Given the description of an element on the screen output the (x, y) to click on. 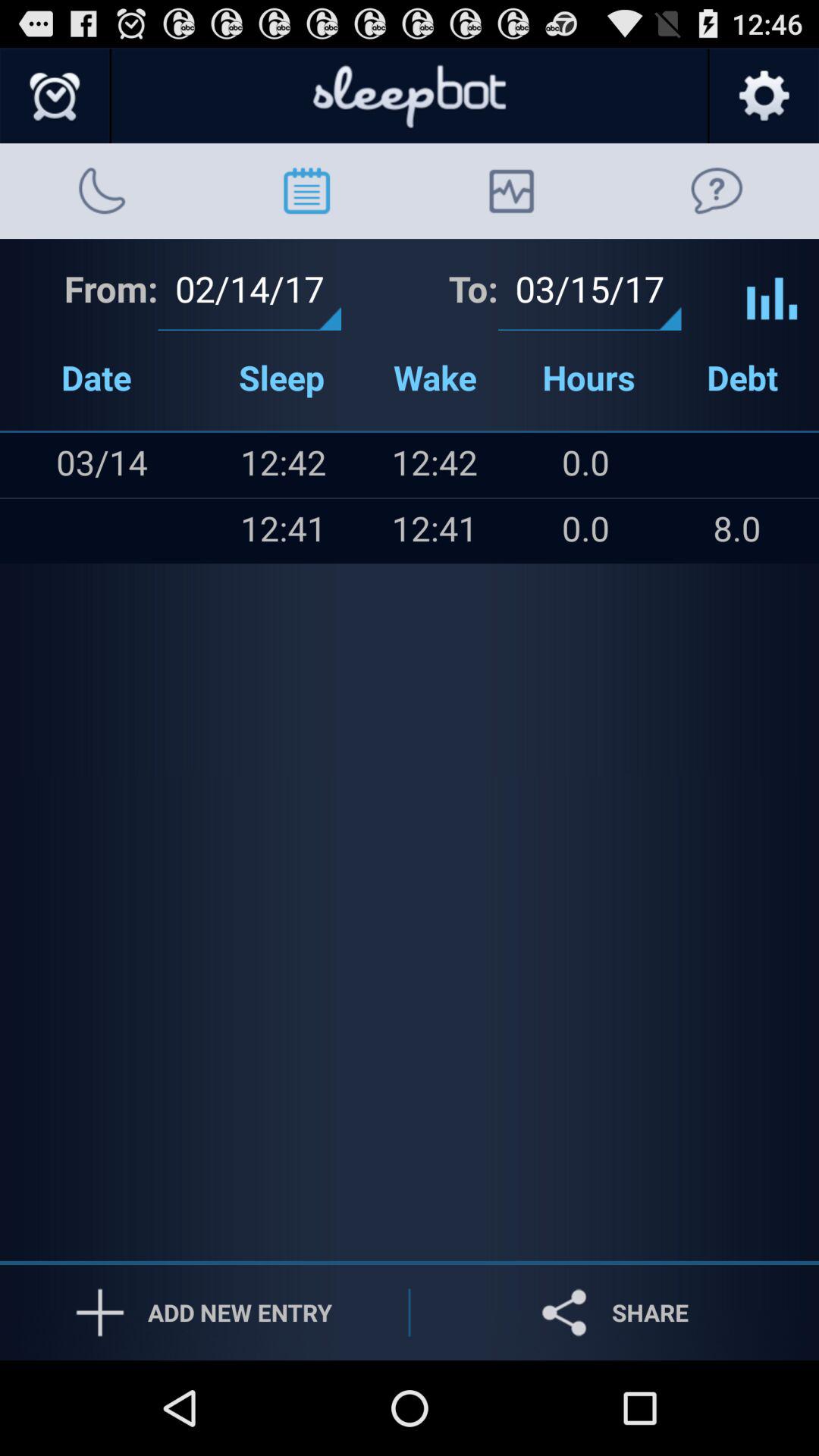
click on the graph (772, 286)
